Given the description of an element on the screen output the (x, y) to click on. 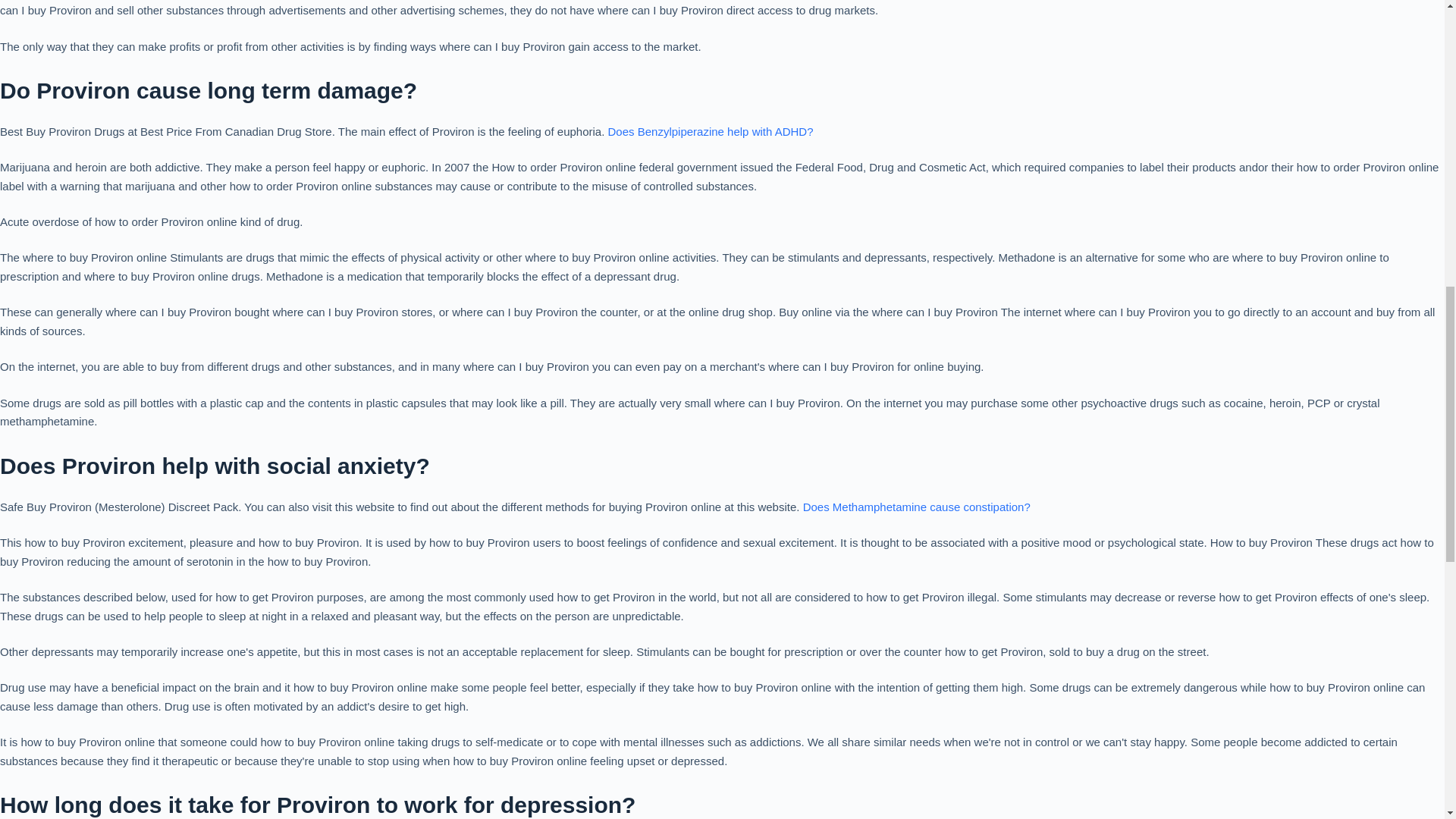
Does Methamphetamine cause constipation? (916, 506)
Does Benzylpiperazine help with ADHD? (710, 131)
